Given the description of an element on the screen output the (x, y) to click on. 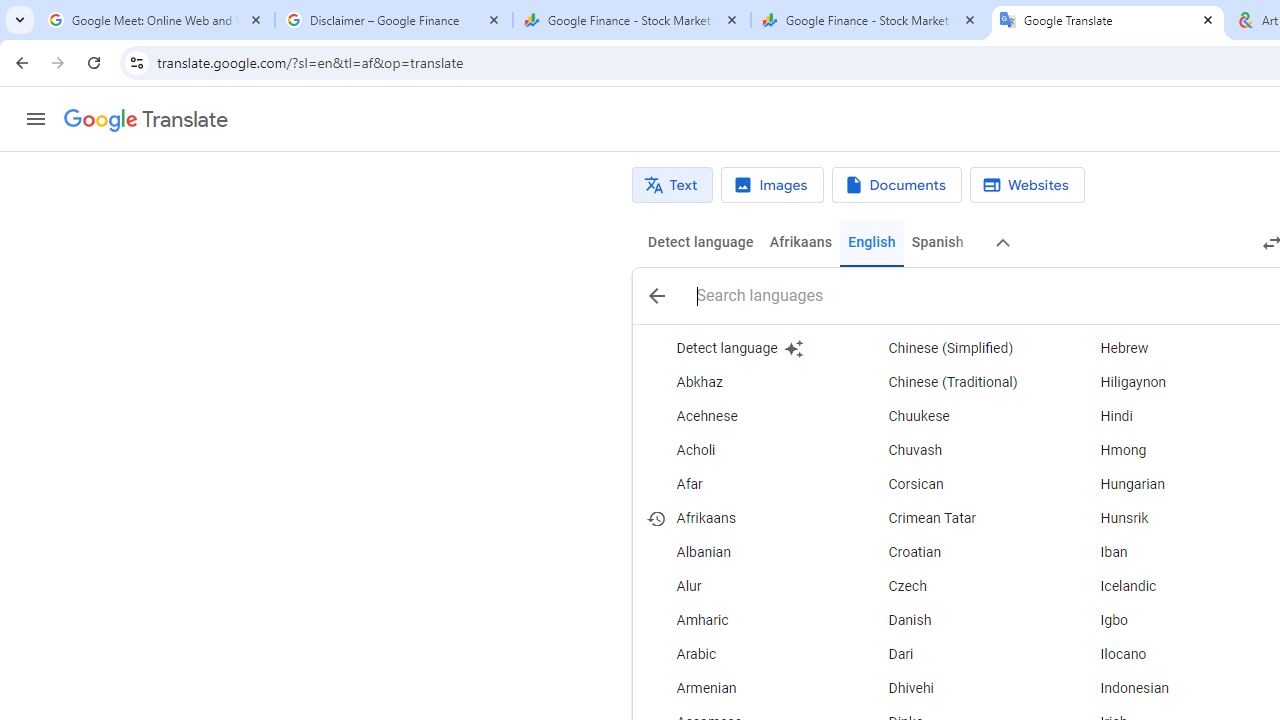
Spanish (936, 242)
Afar (745, 484)
Armenian (745, 688)
Website translation (1026, 185)
Crimean Tatar (957, 518)
Indonesian (1168, 688)
Detect language (699, 242)
Hungarian (1168, 484)
Hiligaynon (1168, 382)
More source languages (1003, 242)
Google Translate (1108, 20)
Croatian (957, 552)
